Given the description of an element on the screen output the (x, y) to click on. 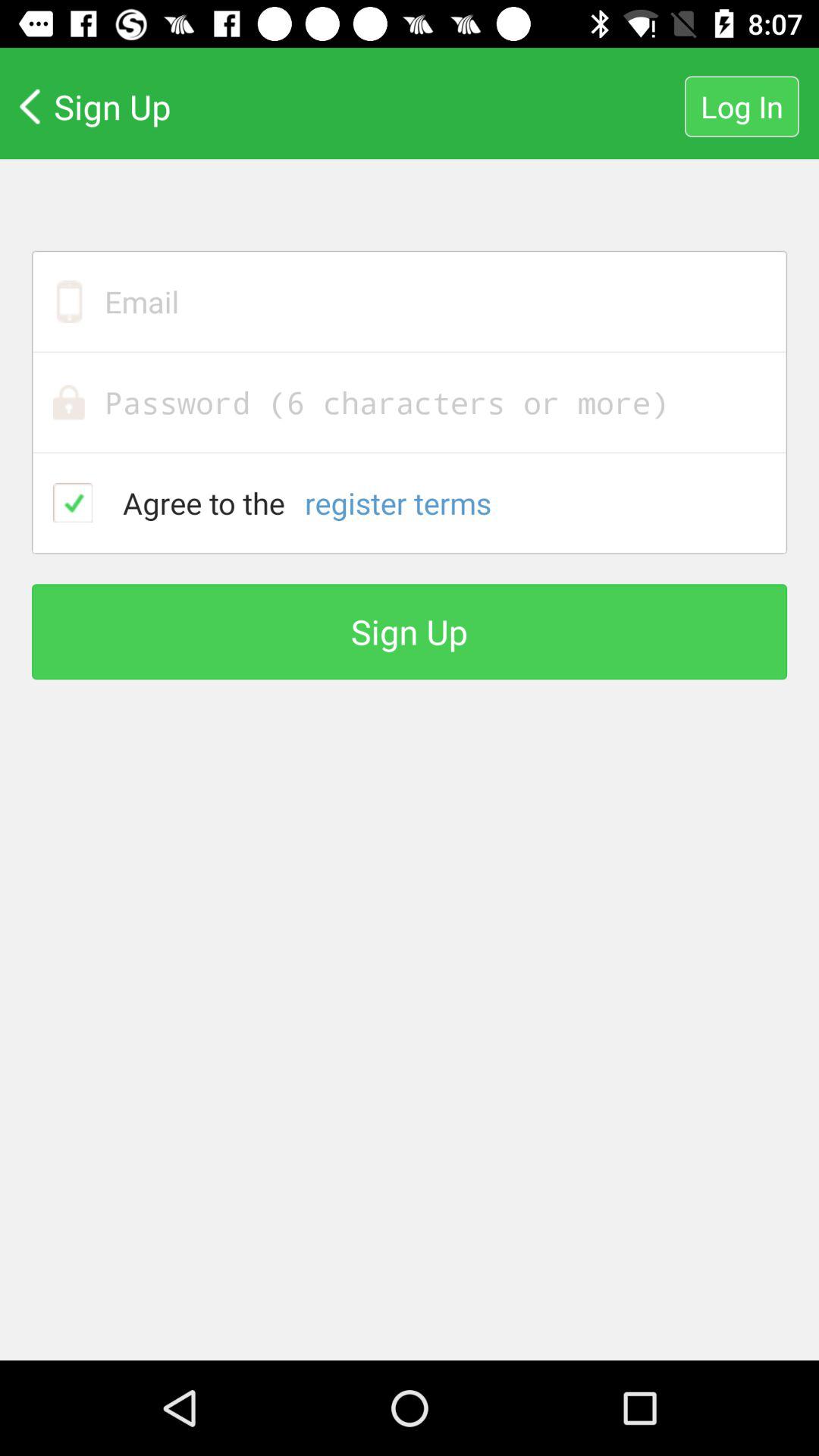
click the log in (741, 106)
